Given the description of an element on the screen output the (x, y) to click on. 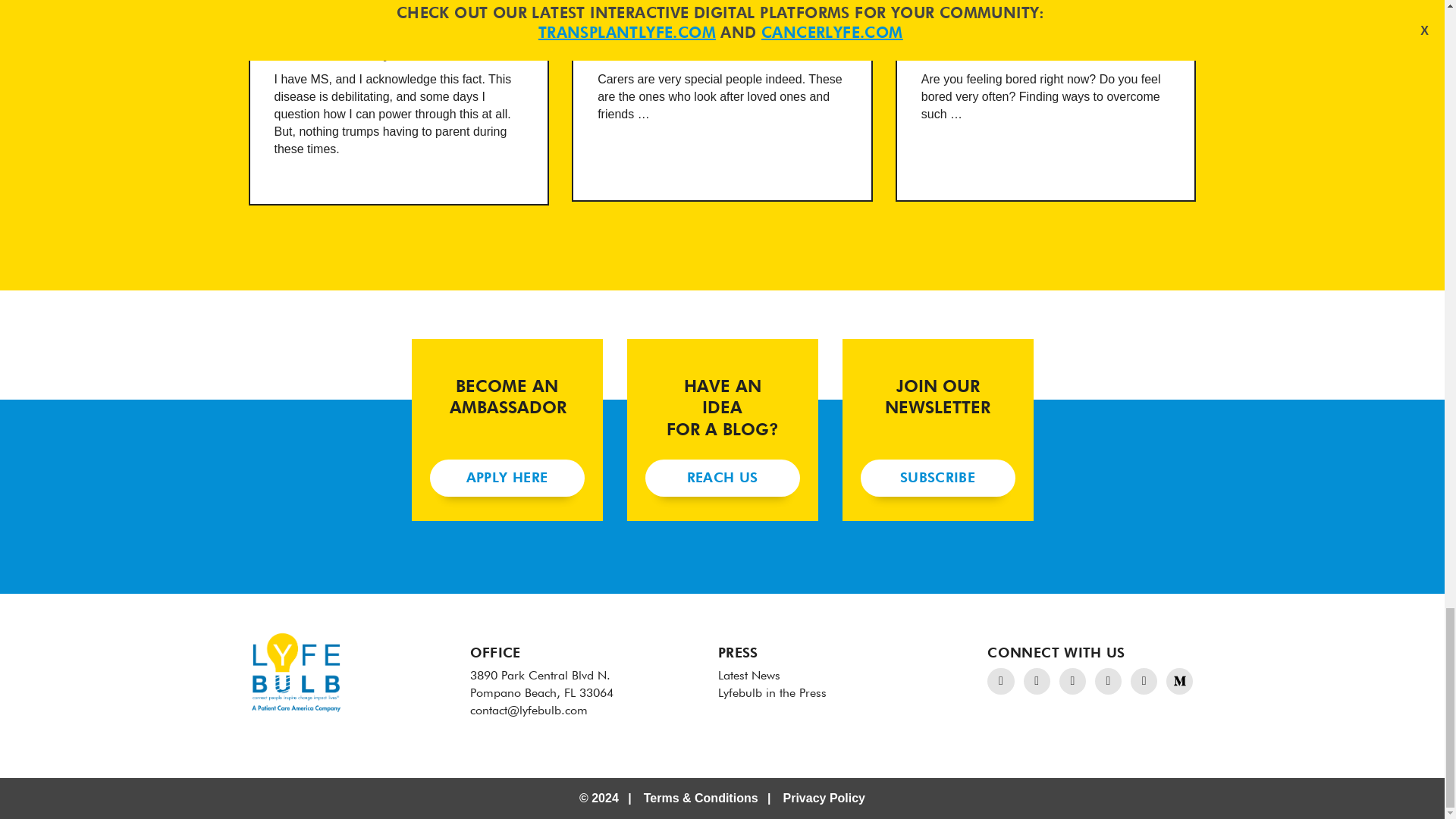
Tantrums and Toddlers and Flares, Oh My! (399, 102)
Privacy Policy (823, 797)
Unique Ways to Stop Boredom (1045, 100)
What Support Do Carers Need? (722, 100)
